Given the description of an element on the screen output the (x, y) to click on. 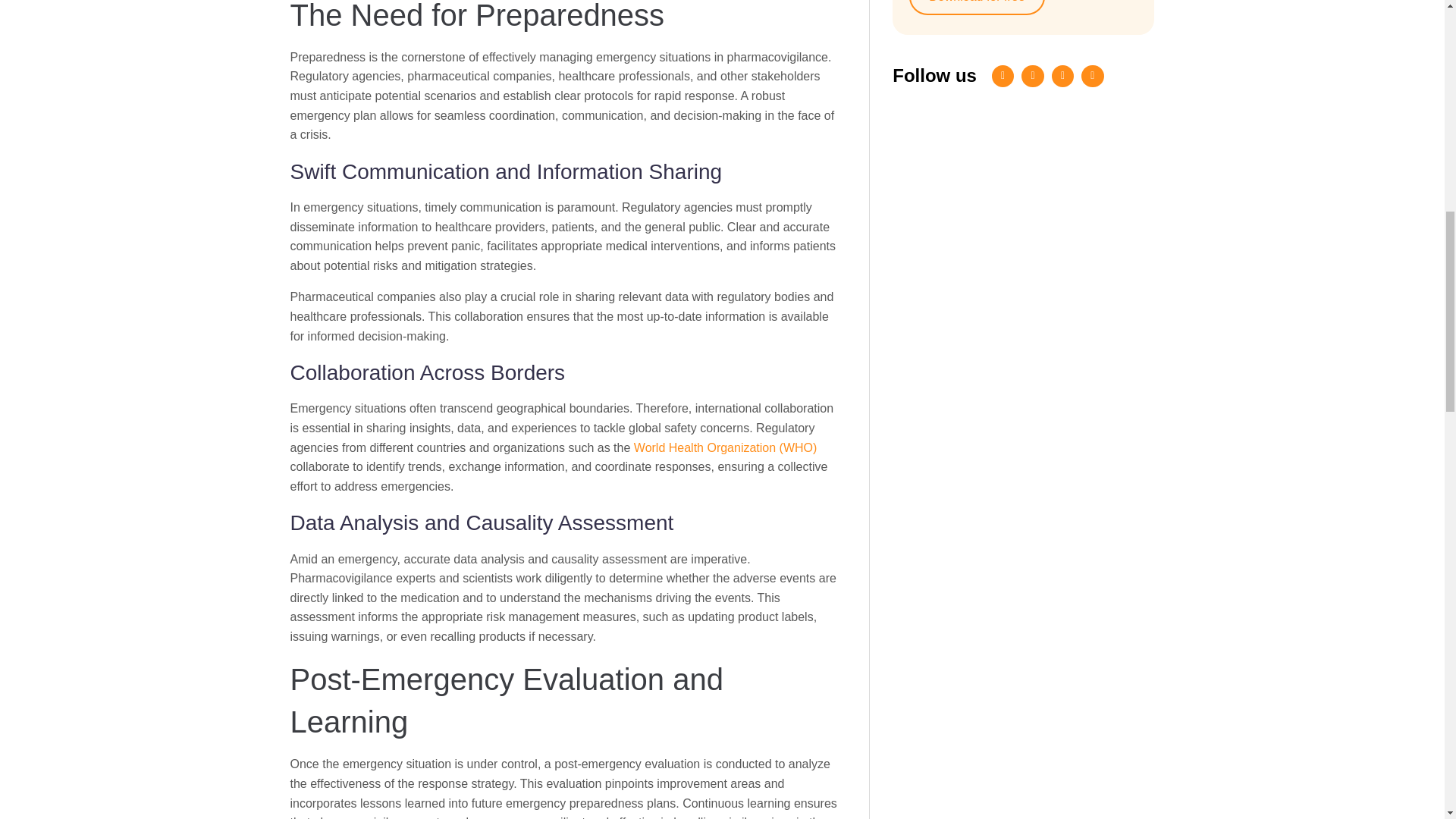
Download for free (975, 7)
